Given the description of an element on the screen output the (x, y) to click on. 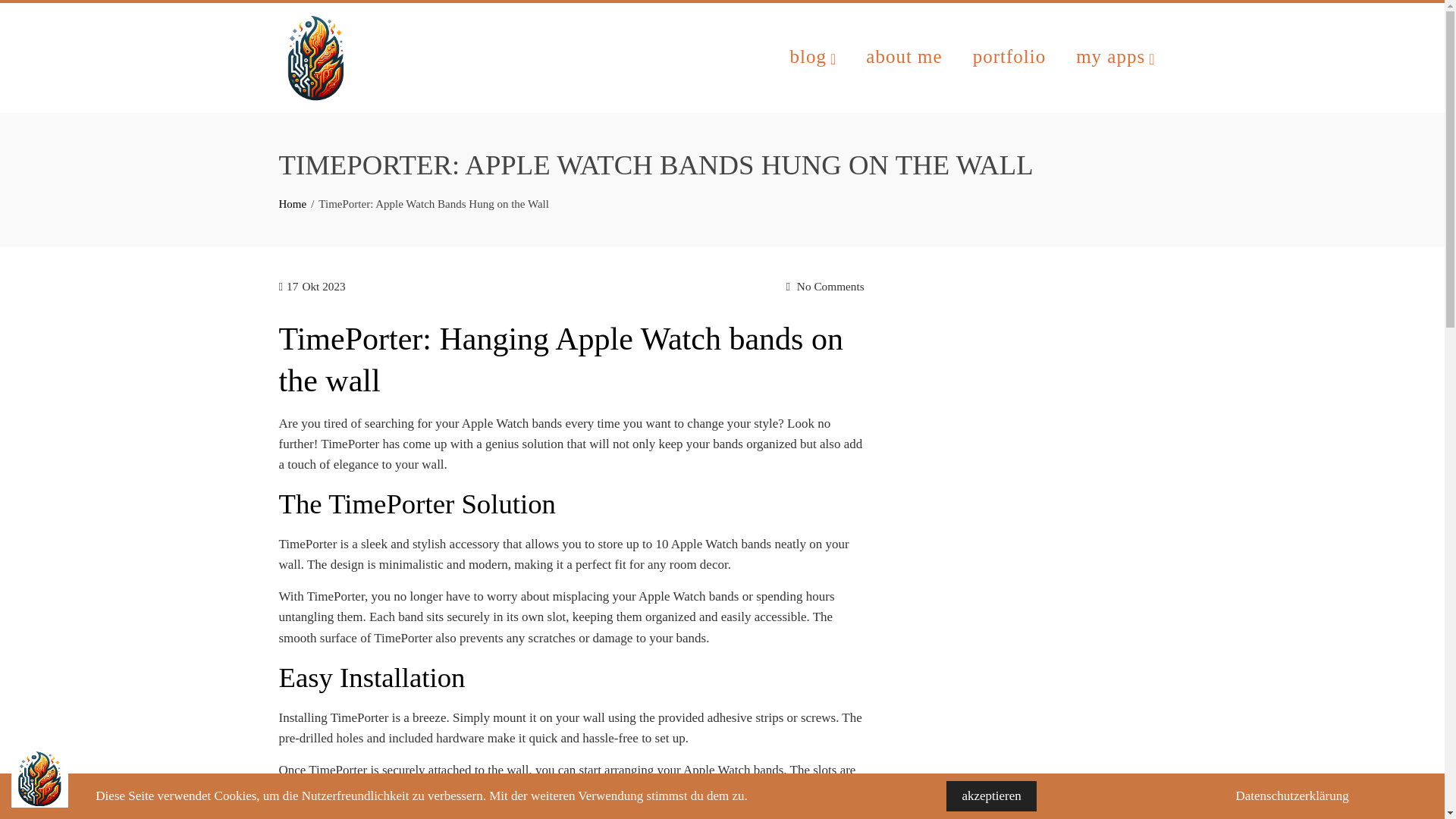
portfolio (1009, 56)
about me (903, 56)
blog (812, 57)
Home (293, 203)
my apps (1115, 57)
akzeptieren (990, 796)
No Comments (824, 286)
